Given the description of an element on the screen output the (x, y) to click on. 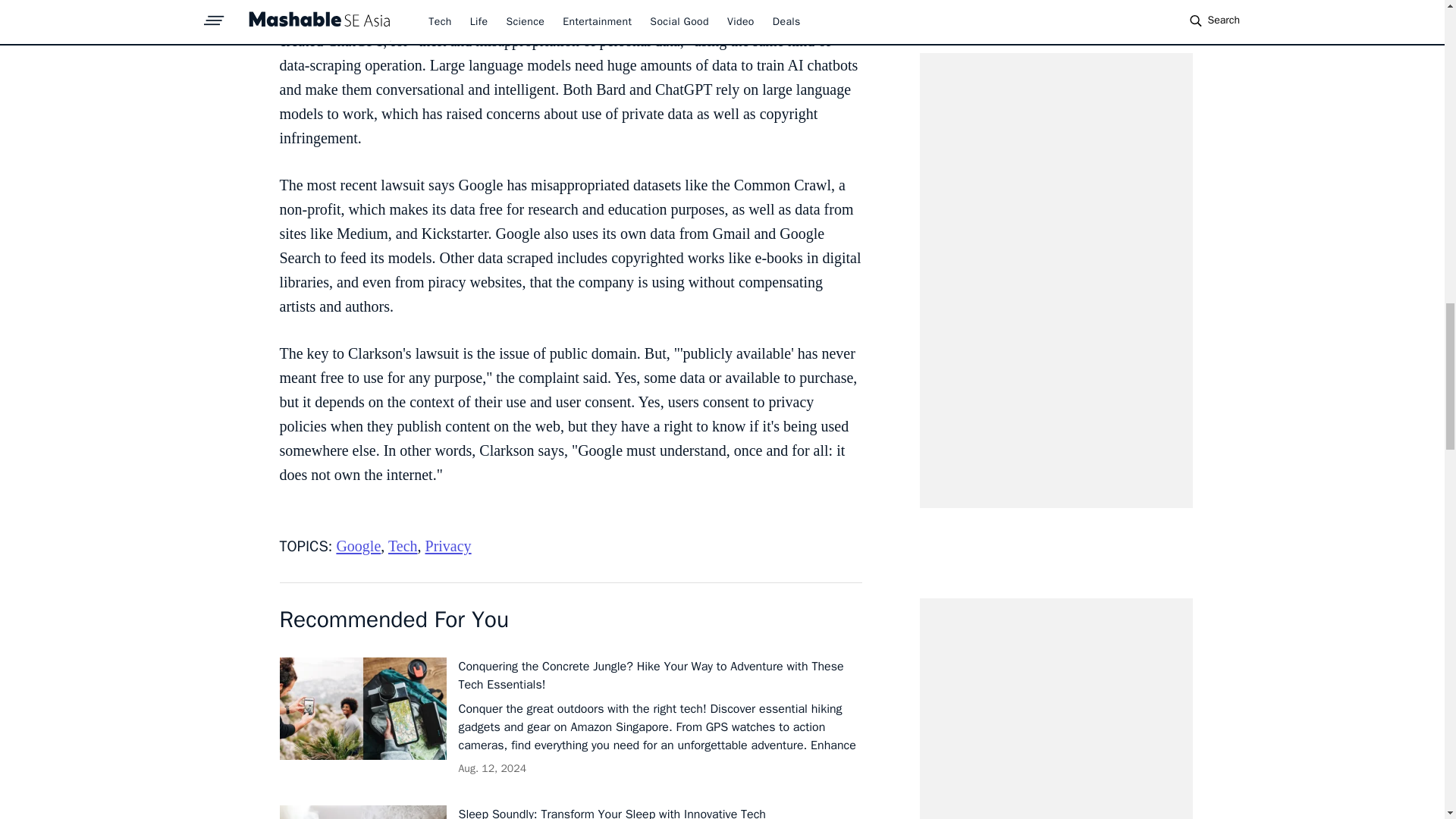
Google (358, 545)
Privacy (448, 545)
Tech (402, 545)
similar class-action lawsuit (523, 16)
